Given the description of an element on the screen output the (x, y) to click on. 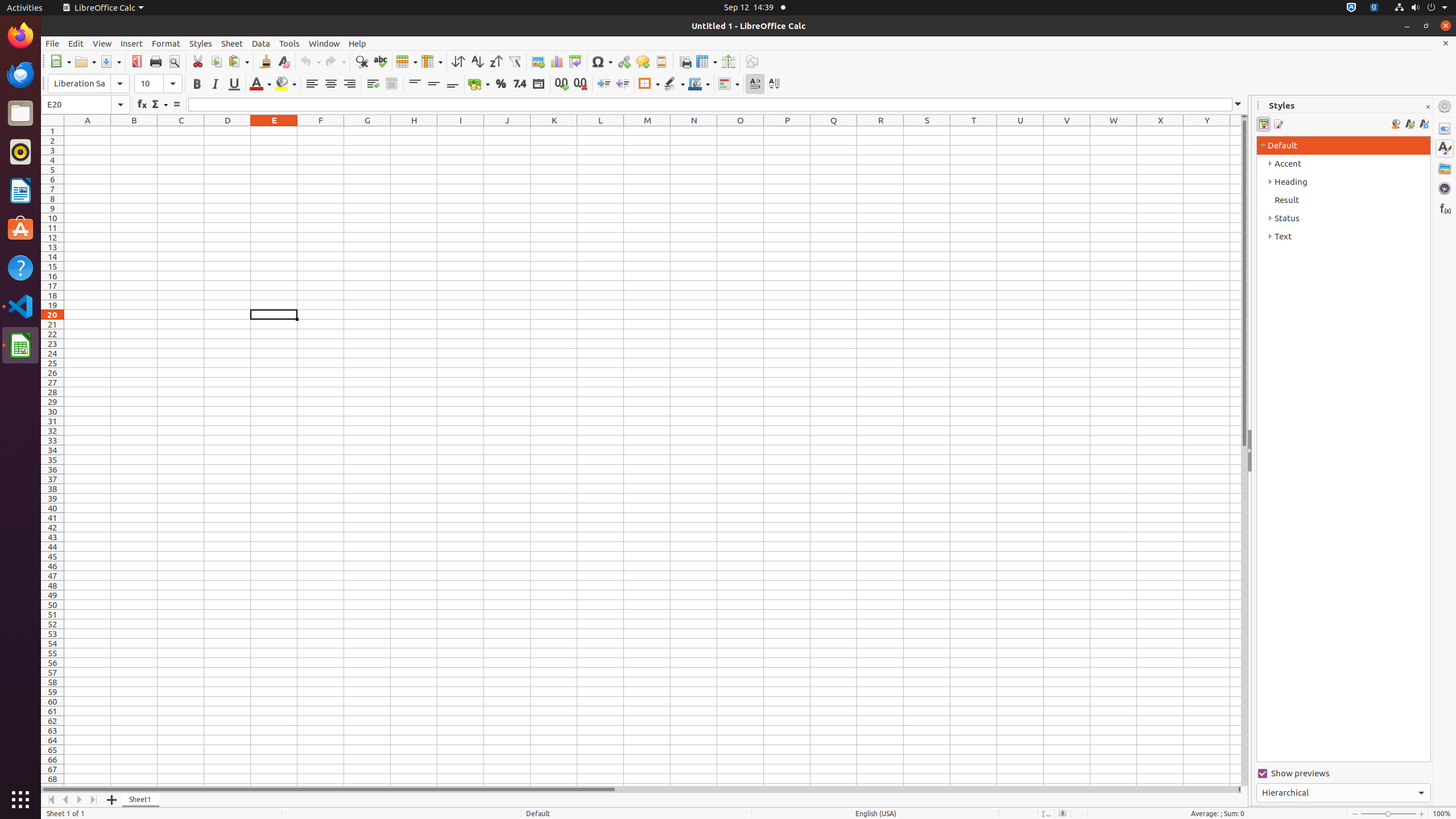
Print Preview Element type: toggle-button (173, 61)
Text direction from top to bottom Element type: toggle-button (773, 83)
W1 Element type: table-cell (1113, 130)
Ubuntu Software Element type: push-button (20, 229)
